Given the description of an element on the screen output the (x, y) to click on. 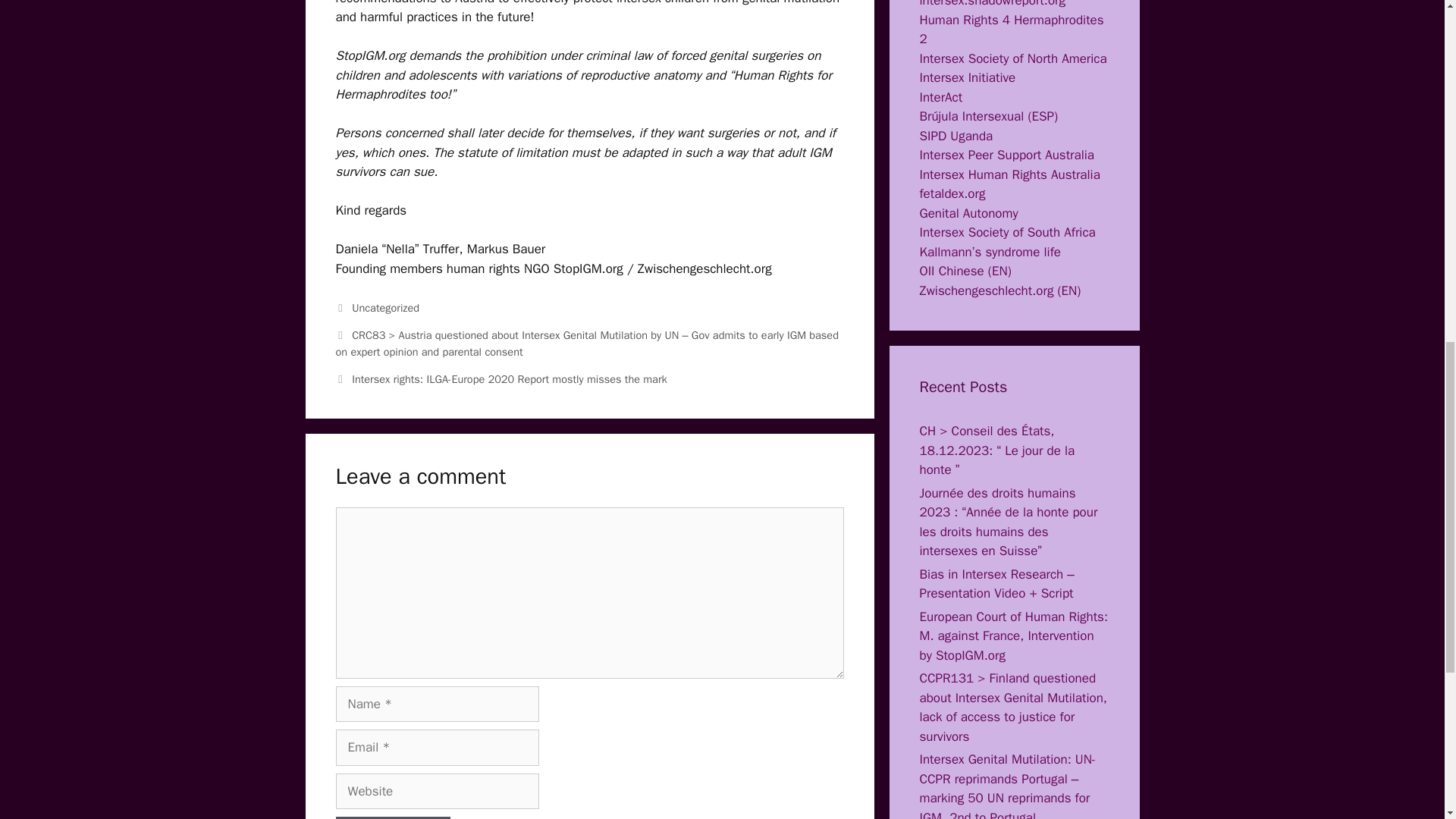
Scroll back to top (1406, 720)
Post Comment (391, 817)
Post Comment (391, 817)
Uncategorized (385, 307)
